Given the description of an element on the screen output the (x, y) to click on. 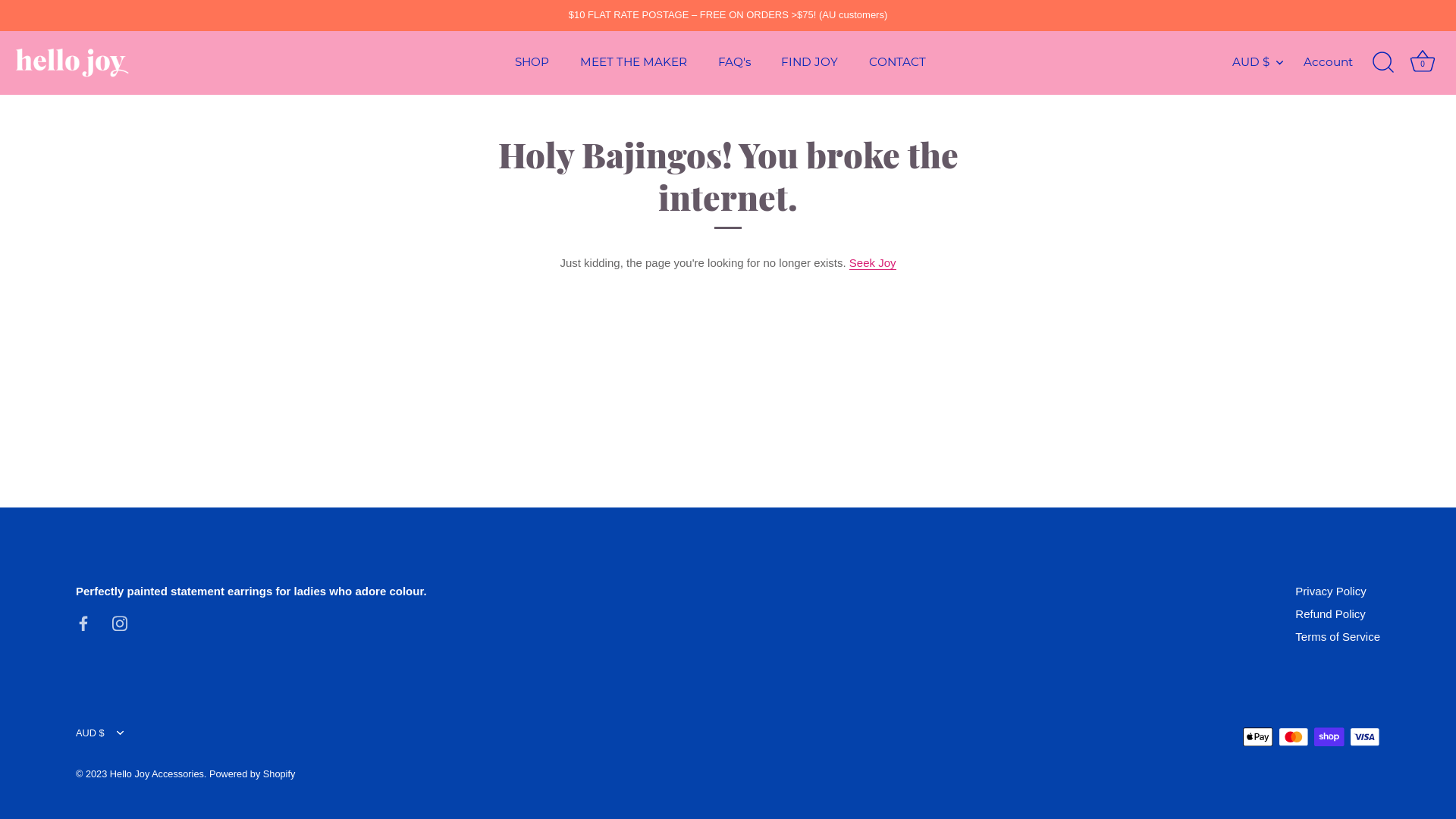
Terms of Service Element type: text (1337, 636)
Account Element type: text (1341, 62)
FIND JOY Element type: text (809, 62)
MEET THE MAKER Element type: text (632, 62)
Refund Policy Element type: text (1330, 613)
Basket
0 Element type: text (1422, 62)
SHOP Element type: text (532, 62)
CONTACT Element type: text (897, 62)
FAQ's Element type: text (733, 62)
AUD $ Element type: text (106, 733)
Seek Joy Element type: text (872, 262)
Instagram Element type: text (119, 621)
Hello Joy Accessories Element type: text (156, 773)
Privacy Policy Element type: text (1330, 590)
Powered by Shopify Element type: text (251, 773)
AUD $ Element type: text (1265, 61)
